Given the description of an element on the screen output the (x, y) to click on. 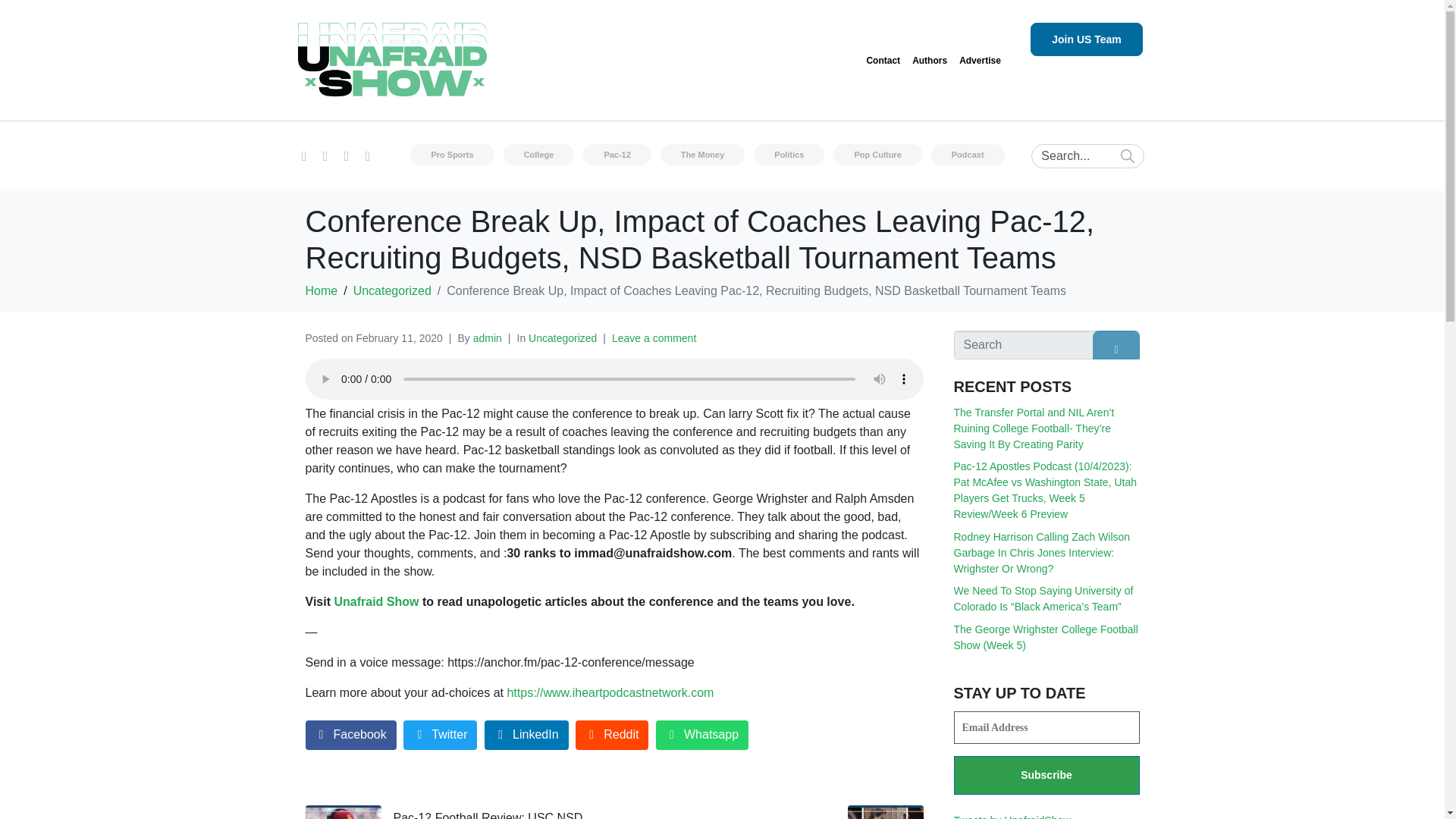
Contact (882, 60)
Pac-12 (616, 154)
admin (487, 337)
Authors (929, 60)
College (539, 154)
Advertise (980, 60)
Leave a comment (653, 337)
Subscribe (1046, 774)
Home (320, 290)
Uncategorized (562, 337)
Politics (789, 154)
2021 Oscars: Way-Too-Early Predictions (774, 812)
Pro Sports (451, 154)
Uncategorized (391, 290)
